Given the description of an element on the screen output the (x, y) to click on. 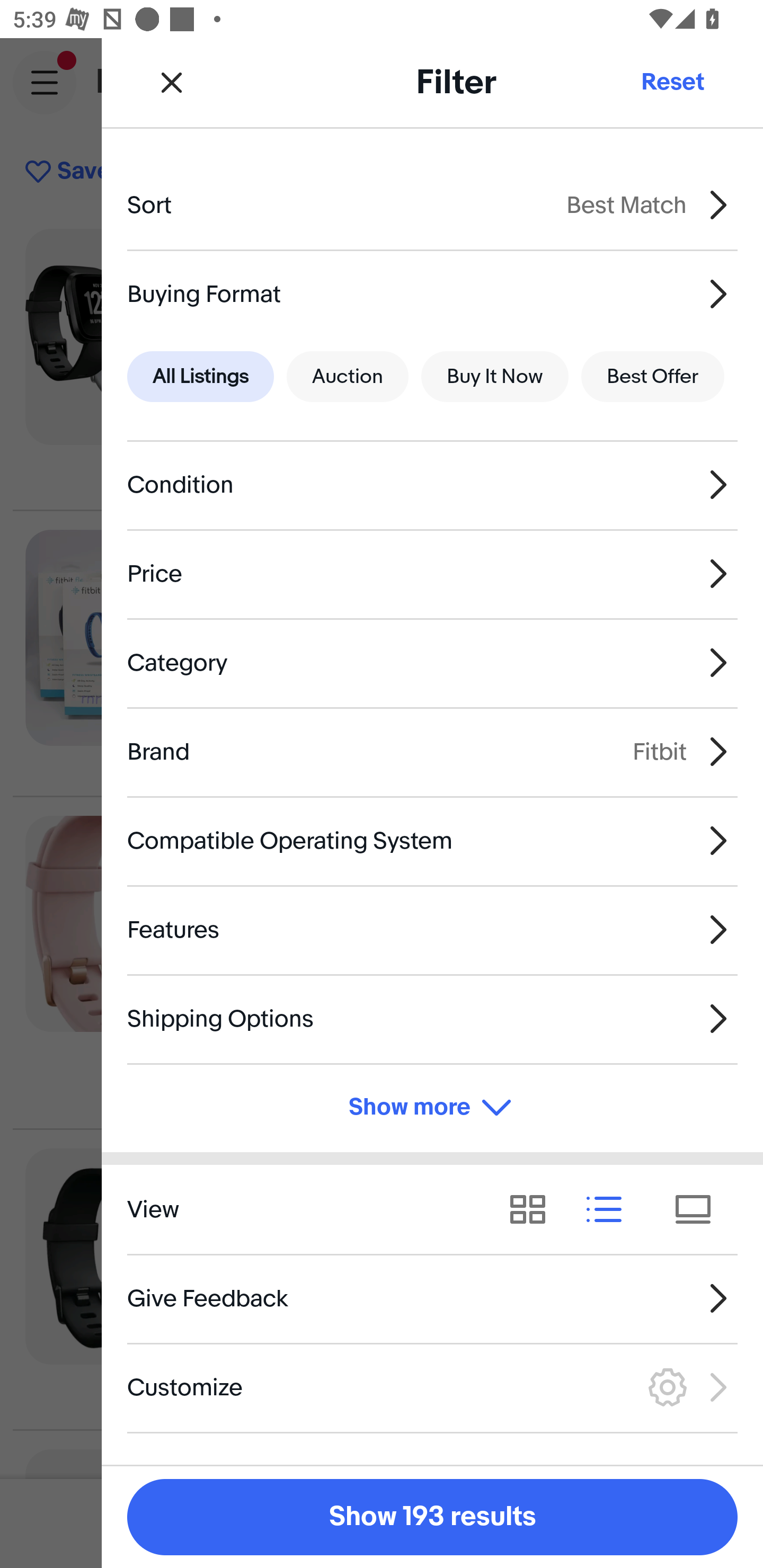
Close Filter (171, 81)
Reset (672, 81)
Buying Format (432, 293)
All Listings (200, 376)
Auction (347, 376)
Buy It Now (494, 376)
Best Offer (652, 376)
Condition (432, 484)
Price (432, 573)
Category (432, 662)
Brand Fitbit (432, 751)
Compatible Operating System (432, 840)
Features (432, 929)
Shipping Options (432, 1018)
Show more (432, 1107)
View results as grid (533, 1209)
View results as list (610, 1209)
View results as tiles (699, 1209)
Customize (432, 1386)
Show 193 results (432, 1516)
